Given the description of an element on the screen output the (x, y) to click on. 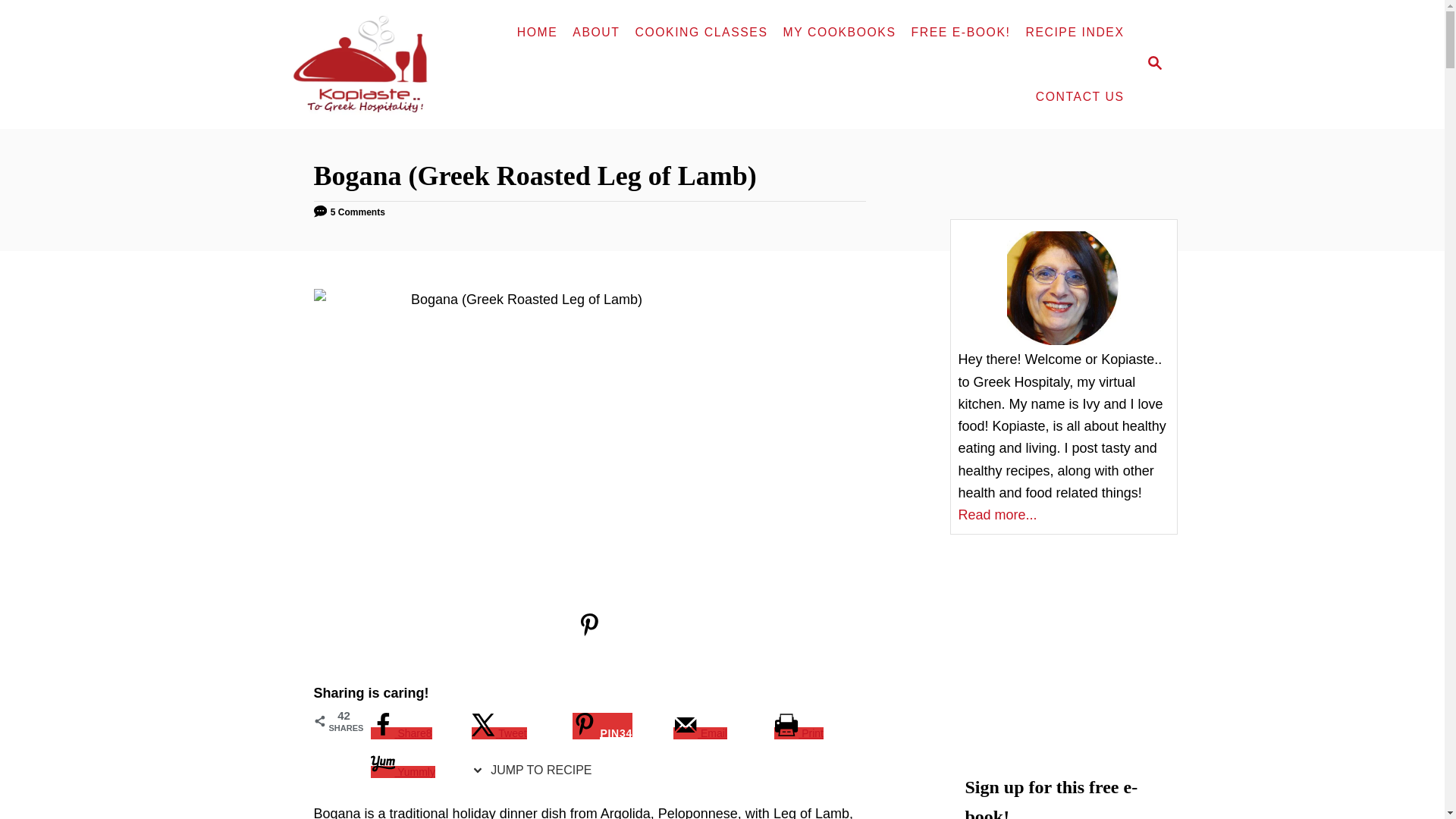
Print (799, 732)
PIN34 (601, 724)
MY COOKBOOKS (838, 32)
Share on Facebook (399, 732)
Kopiaste..to Greek Hospitality (370, 64)
Email (699, 732)
ABOUT (595, 32)
COOKING CLASSES (700, 32)
Yummly (401, 771)
SEARCH (1153, 63)
RECIPE INDEX (1074, 32)
JUMP TO RECIPE (535, 769)
HOME (537, 32)
Save to Pinterest (601, 724)
FREE E-BOOK! (960, 32)
